Given the description of an element on the screen output the (x, y) to click on. 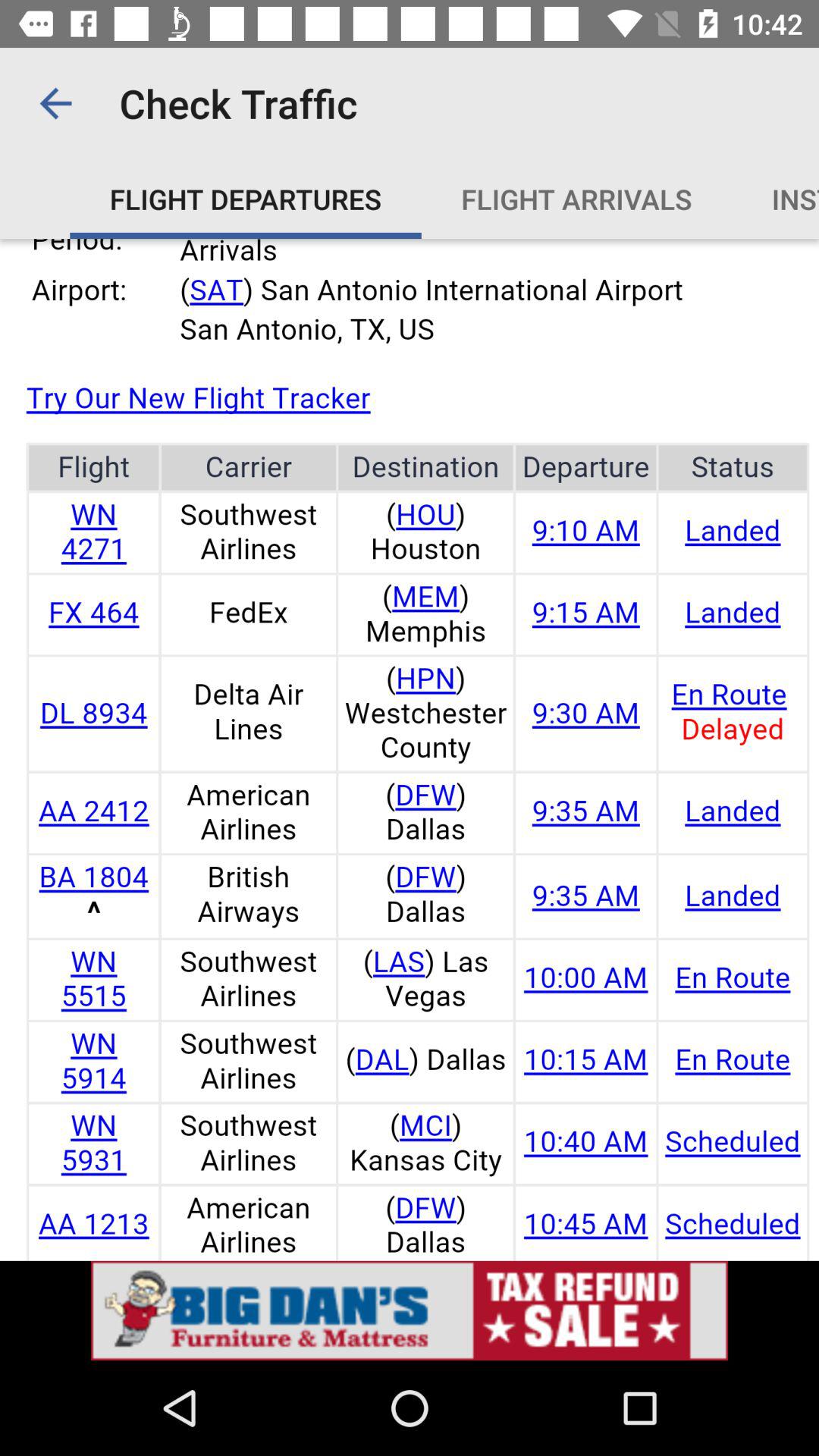
open advertisement (409, 1310)
